Given the description of an element on the screen output the (x, y) to click on. 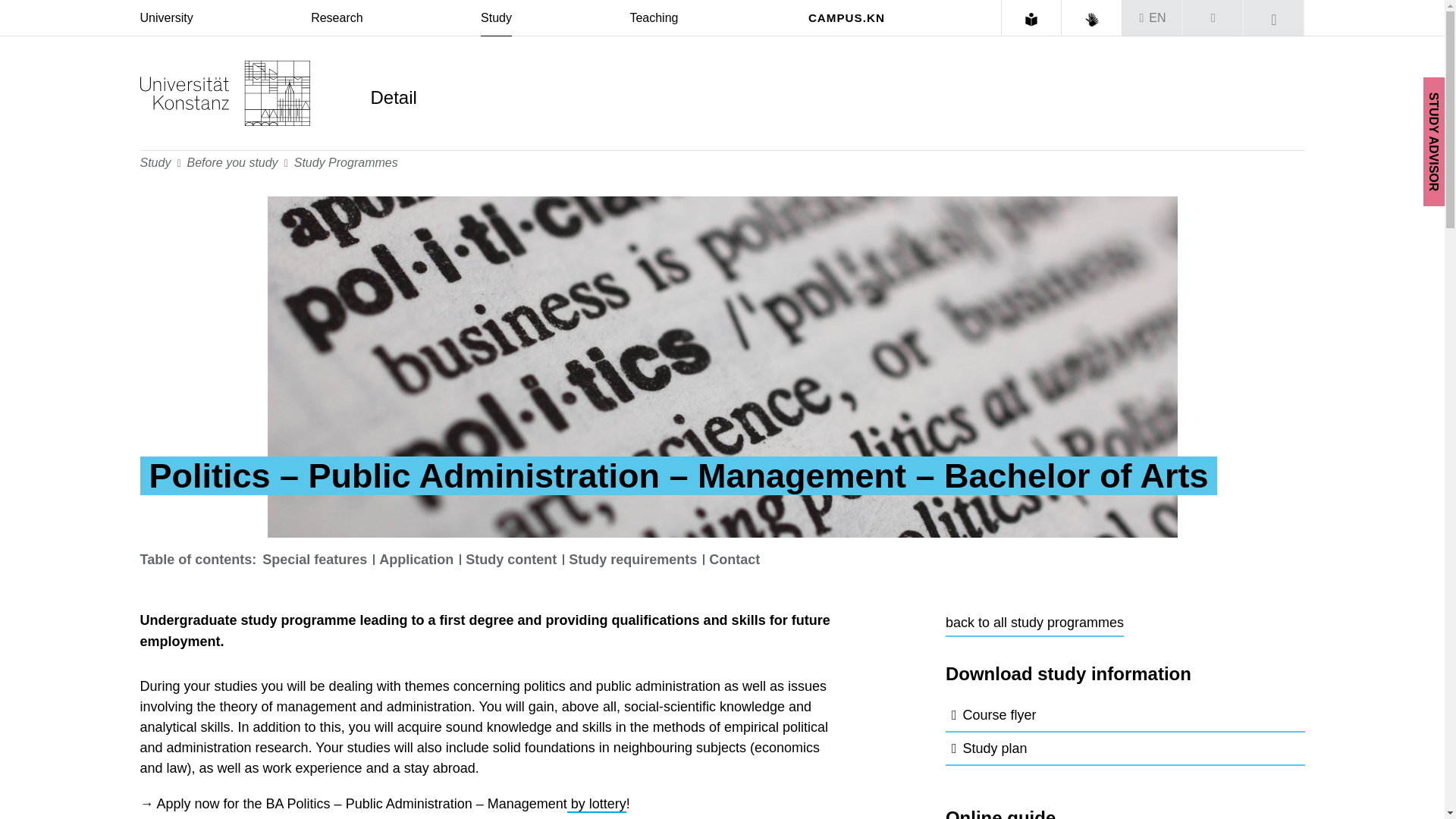
Toggle Searchoverlay (1273, 18)
Teaching (653, 18)
Simple Language (1031, 19)
Sprache wechseln (1152, 18)
English (1157, 17)
Login (1212, 18)
Research (336, 18)
Sign Language (1091, 19)
University (165, 18)
